Given the description of an element on the screen output the (x, y) to click on. 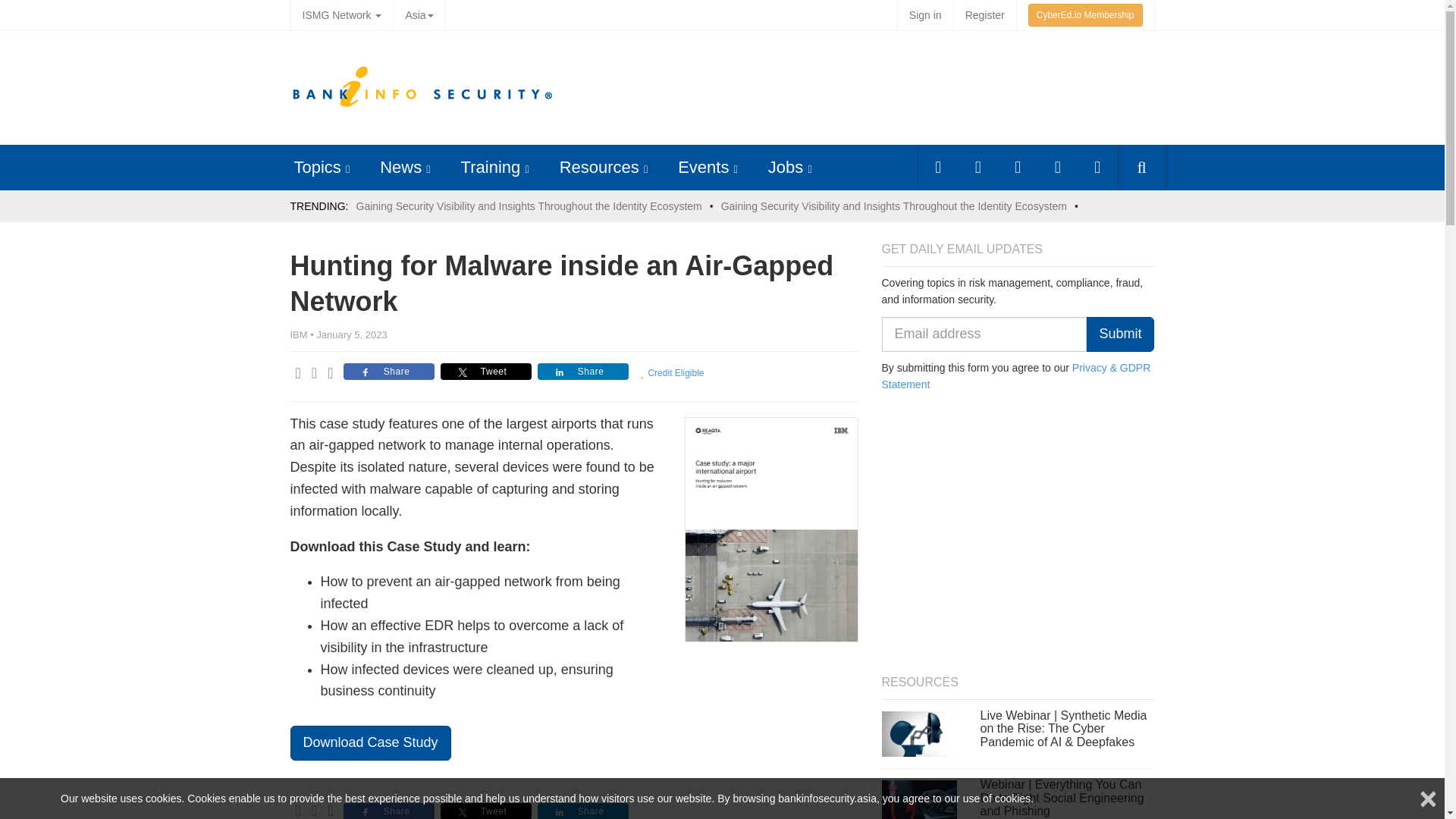
Asia (418, 15)
Register (984, 15)
ISMG Network (341, 15)
CyberEd.io Membership (1084, 15)
Topics (317, 167)
Sign in (925, 15)
3rd party ad content (873, 88)
